Given the description of an element on the screen output the (x, y) to click on. 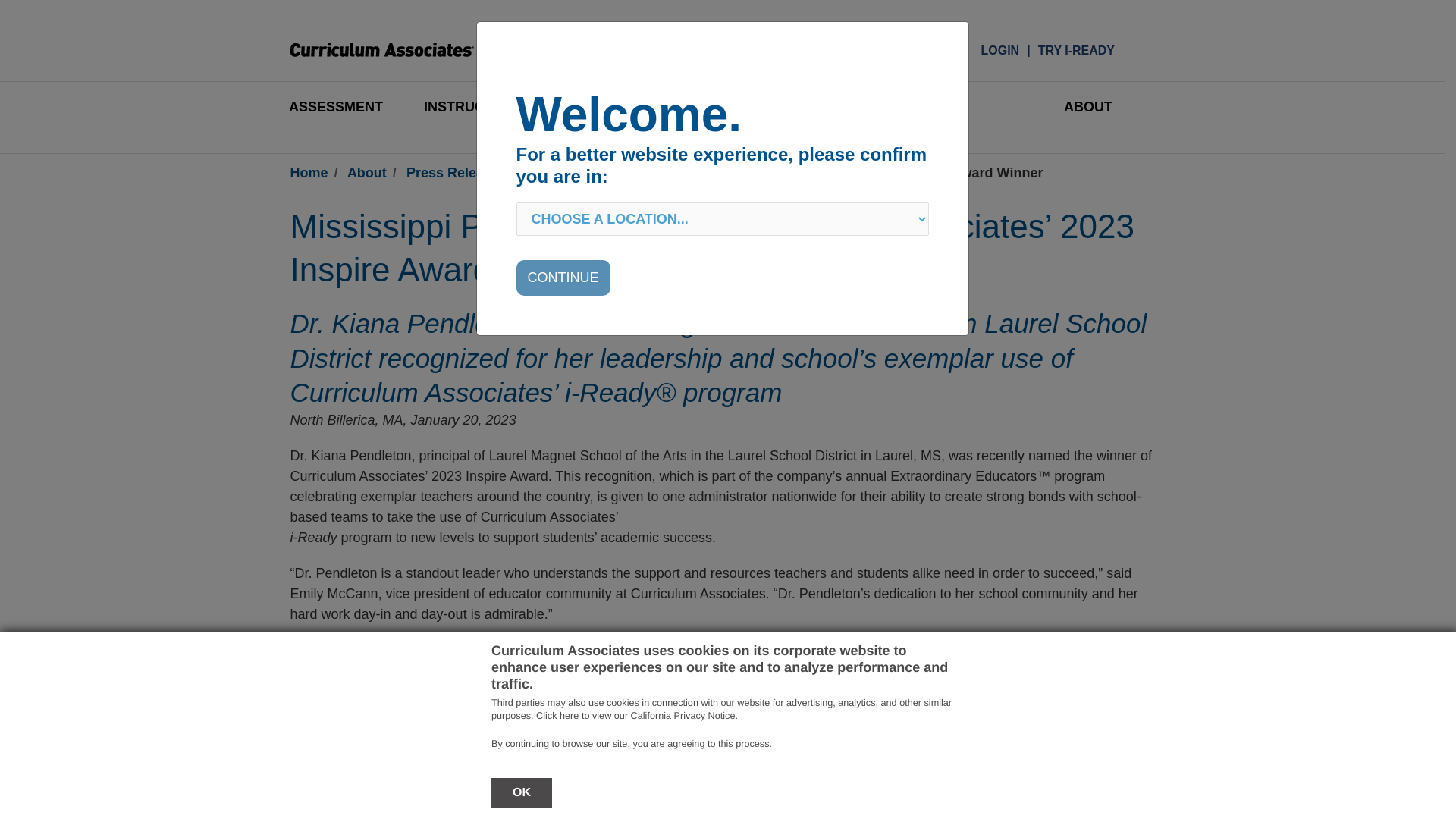
Click here (556, 715)
OK (521, 793)
